Given the description of an element on the screen output the (x, y) to click on. 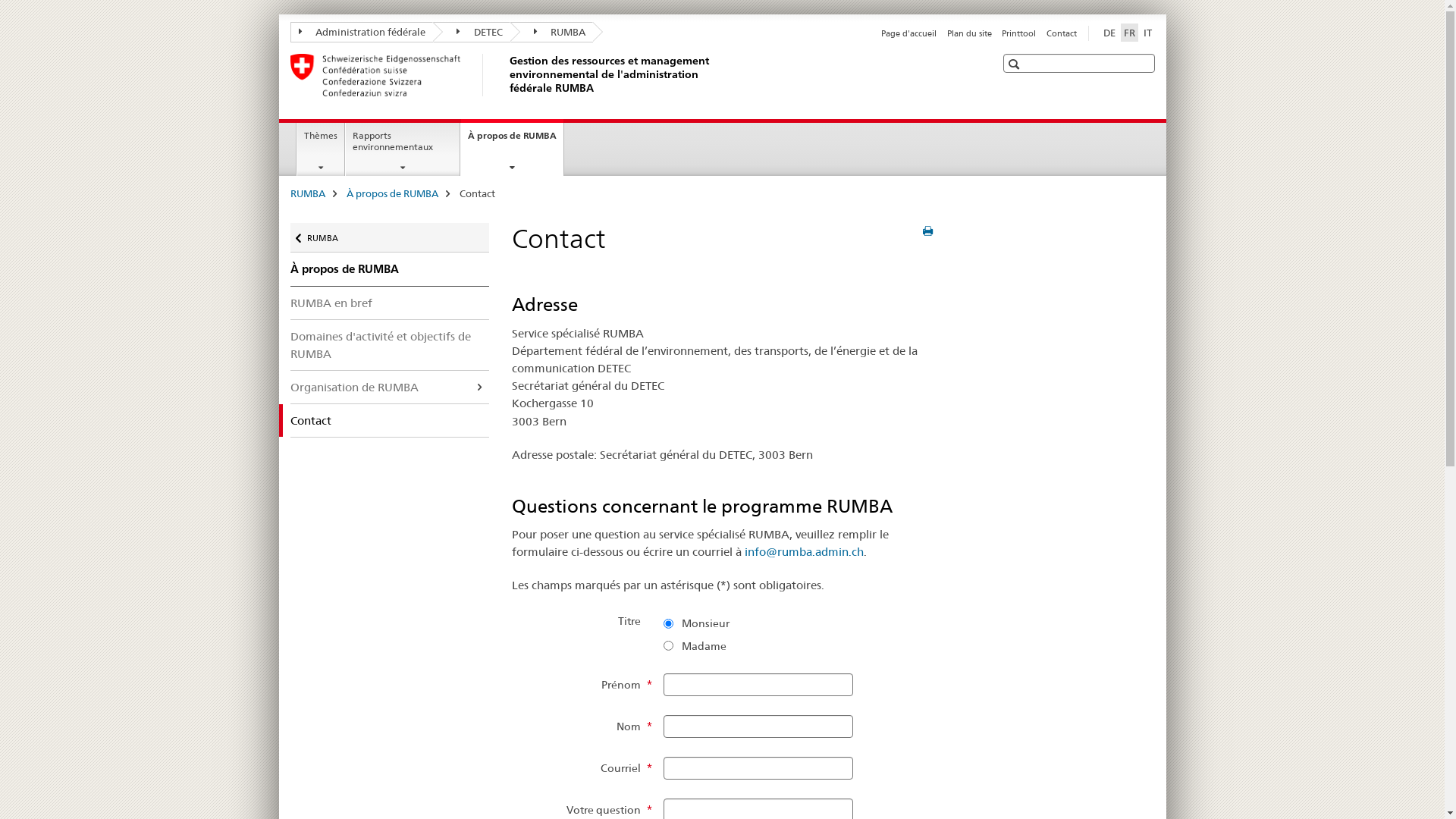
RUMBA Element type: text (306, 193)
FR Element type: text (1129, 32)
RUMBA Element type: text (551, 31)
Plan du site Element type: text (969, 33)
Organisation de RUMBA Element type: text (389, 386)
Page d'accueil Element type: text (908, 33)
DETEC Element type: text (471, 31)
DE Element type: text (1108, 32)
IT Element type: text (1147, 32)
Imprimer cette page Element type: hover (927, 230)
RUMBA en bref Element type: text (389, 302)
Rapports environnementaux Element type: text (402, 148)
Contact Element type: text (1061, 33)
Printtool Element type: text (1018, 33)
info@rumba.admin.ch Element type: text (803, 551)
